Given the description of an element on the screen output the (x, y) to click on. 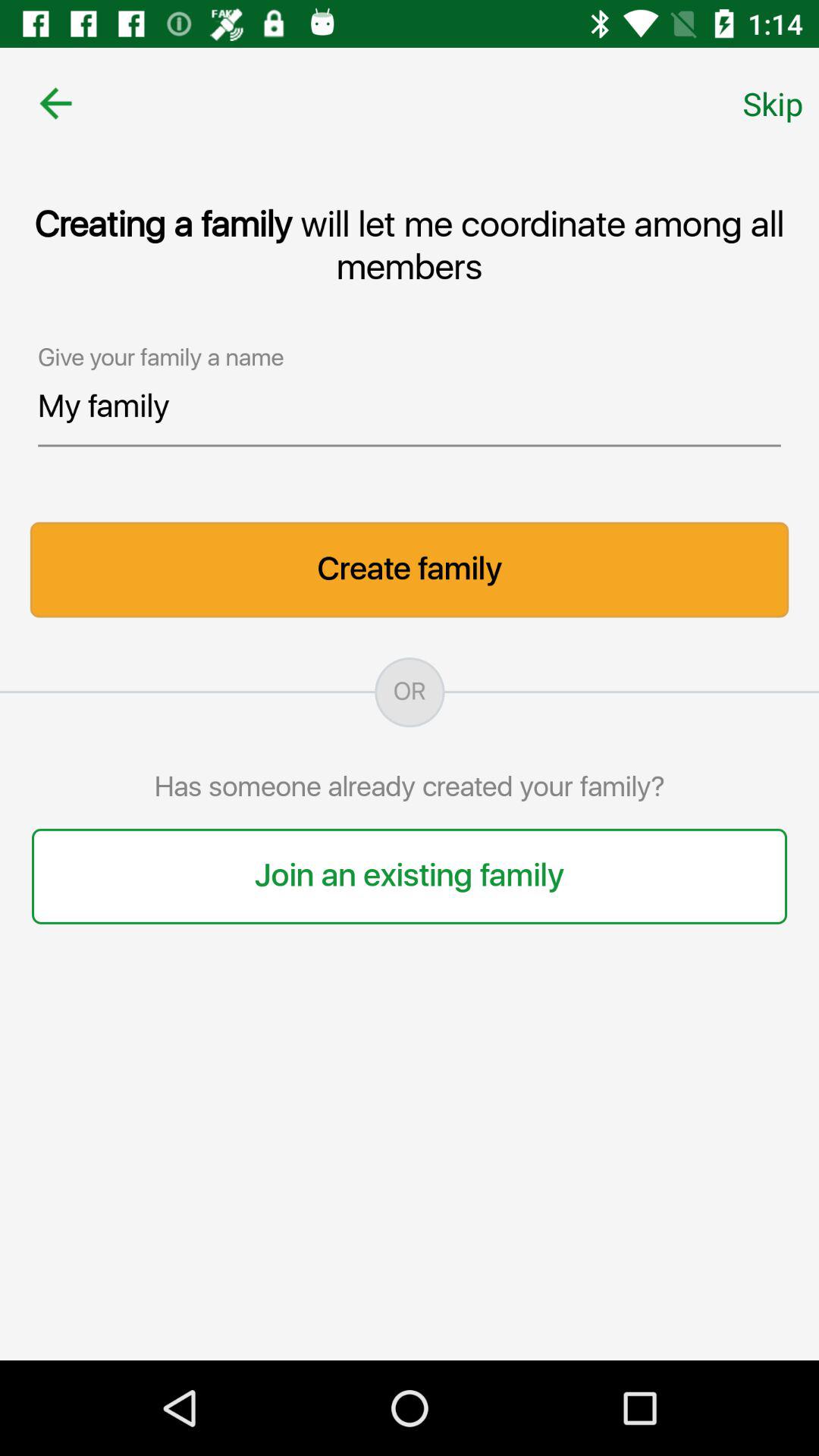
go to previous screen (55, 103)
